Given the description of an element on the screen output the (x, y) to click on. 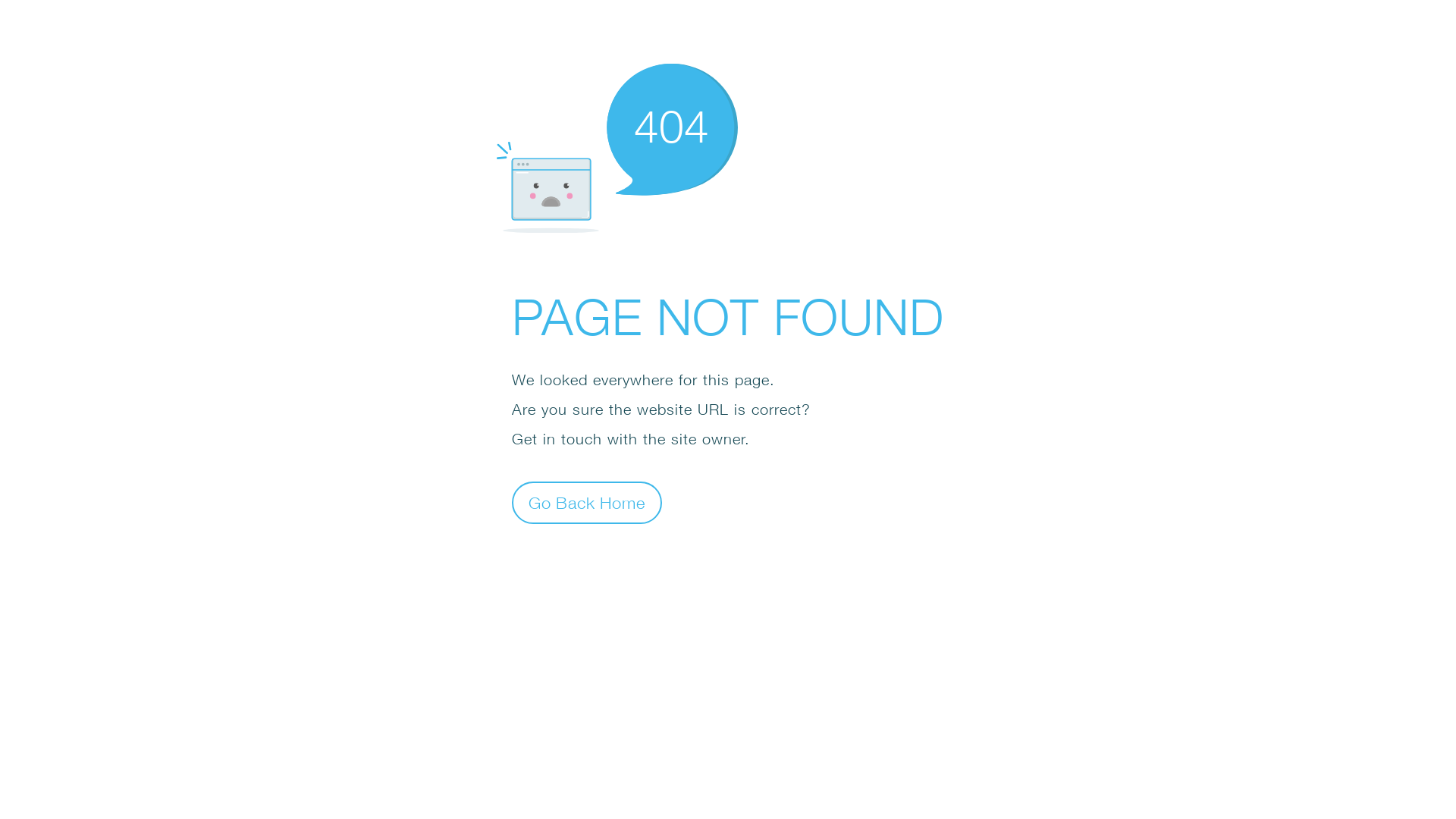
Go Back Home Element type: text (586, 502)
